Given the description of an element on the screen output the (x, y) to click on. 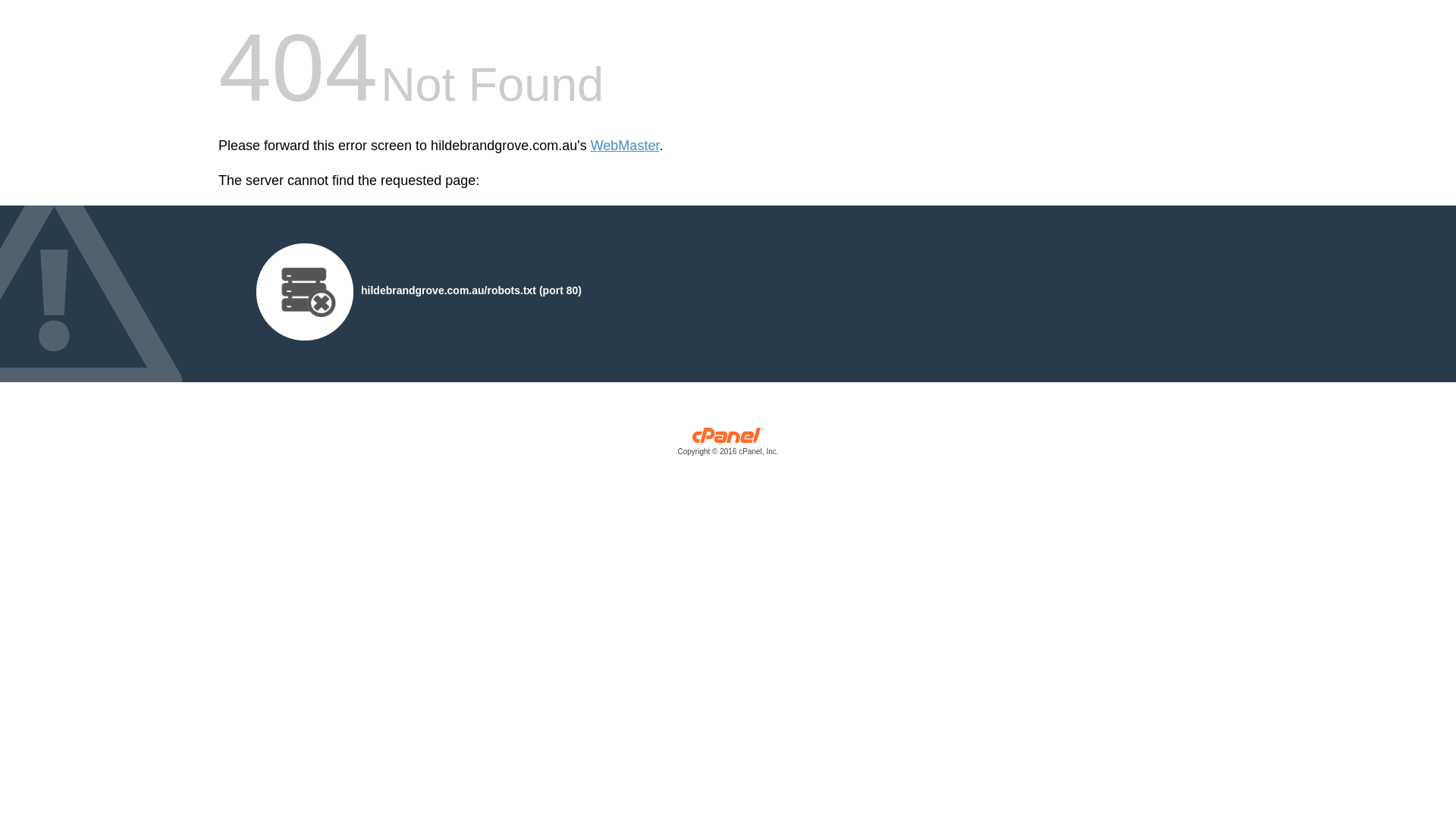
WebMaster Element type: text (624, 145)
